Given the description of an element on the screen output the (x, y) to click on. 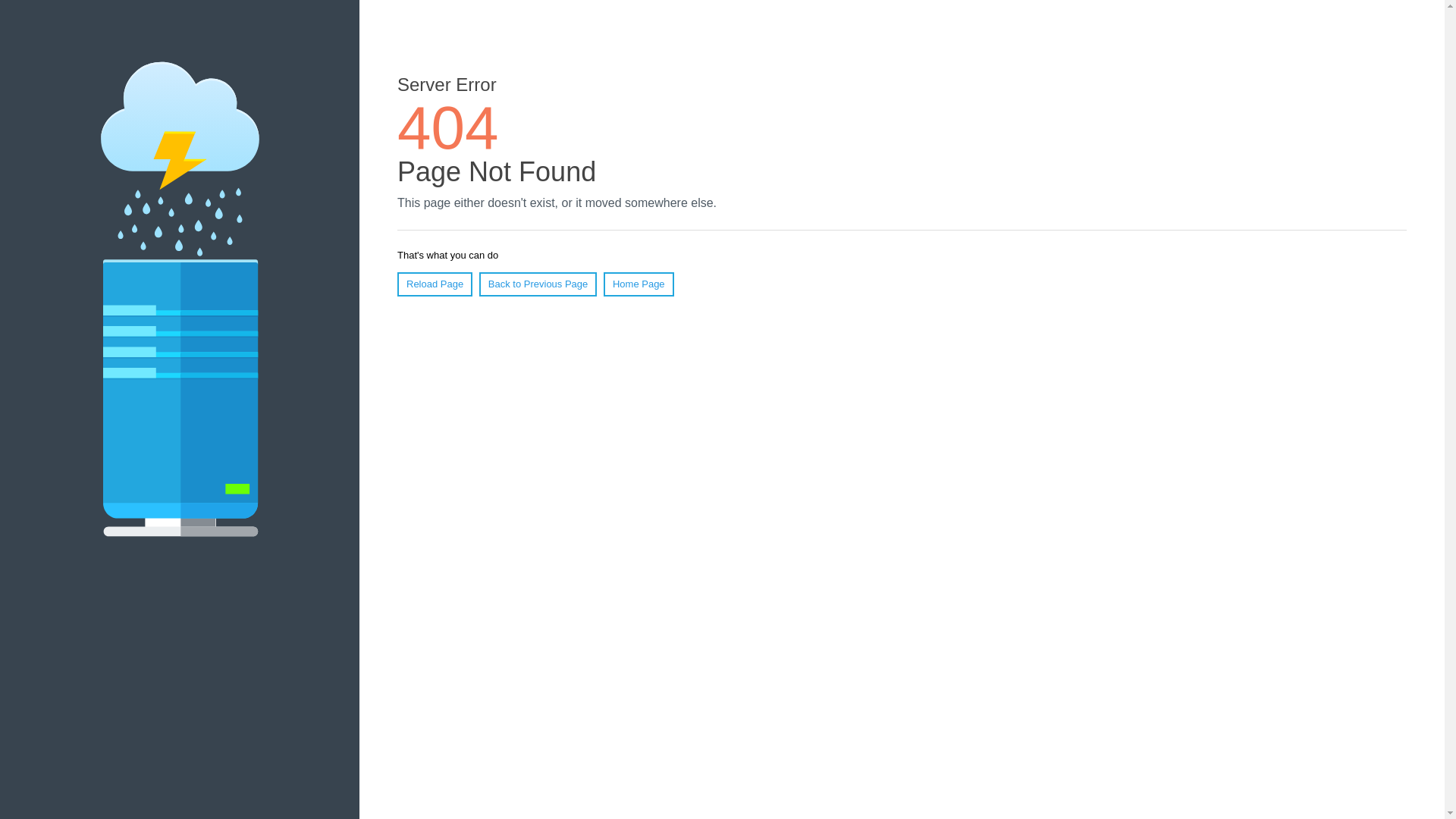
Back to Previous Page Element type: text (538, 284)
Reload Page Element type: text (434, 284)
Home Page Element type: text (638, 284)
